Given the description of an element on the screen output the (x, y) to click on. 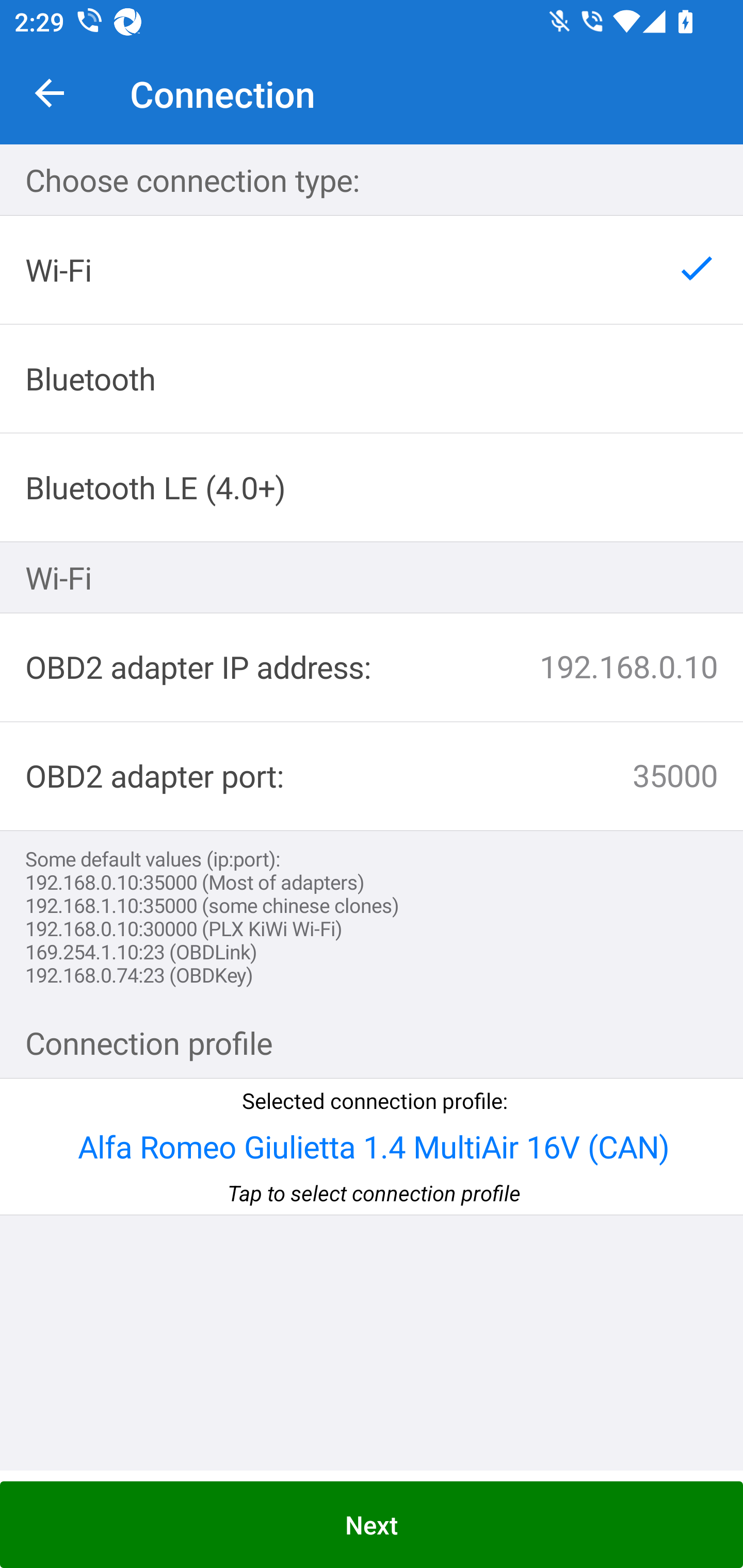
Wi-Fi (371, 270)
Bluetooth (371, 378)
Bluetooth LE (4.0+) (371, 486)
OBD2 adapter IP address: 192.168.0.10 (371, 667)
192.168.0.10 (553, 667)
OBD2 adapter port: 35000 (371, 776)
35000 (509, 775)
Next (371, 1524)
